Given the description of an element on the screen output the (x, y) to click on. 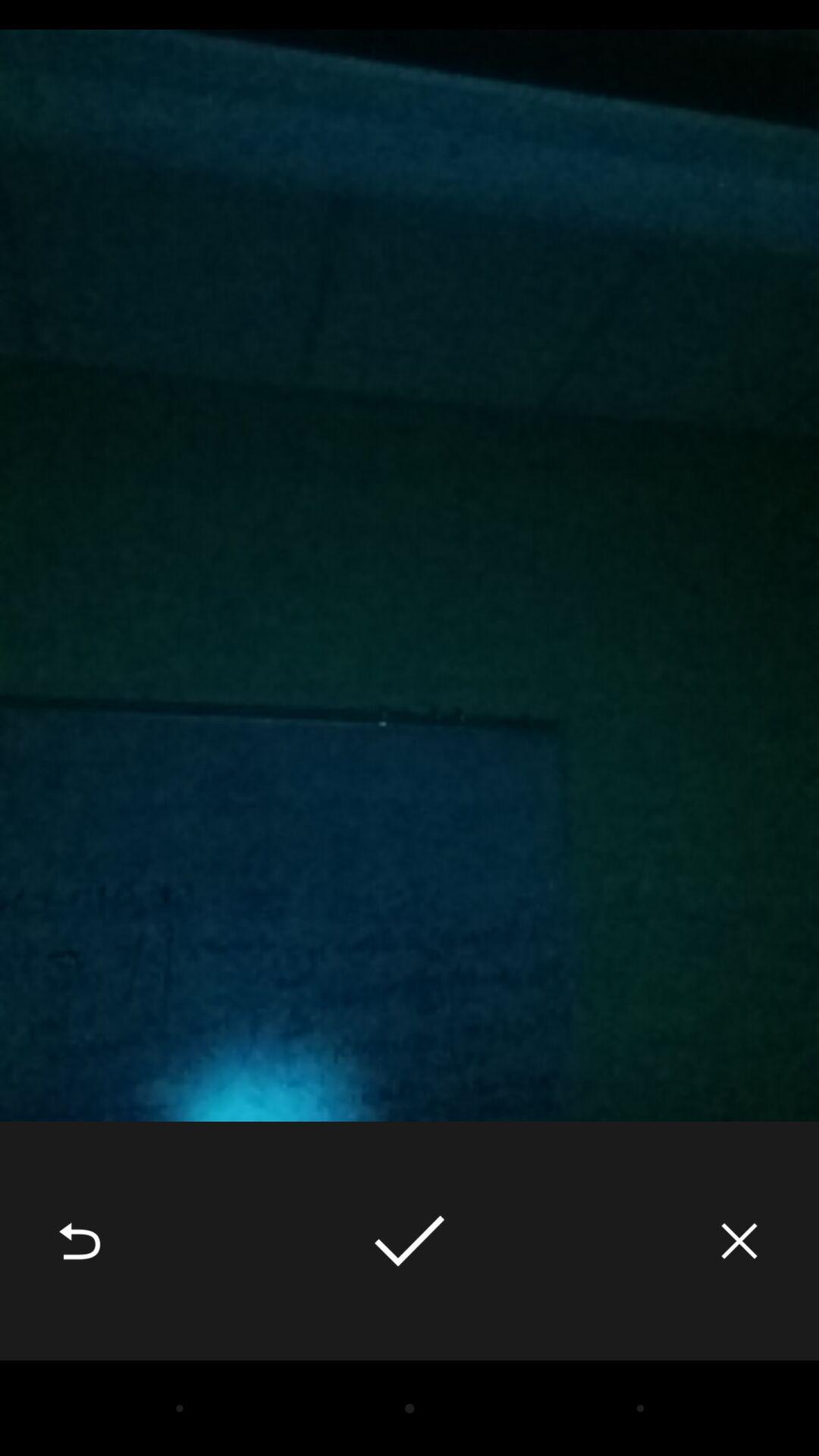
turn on the icon at the bottom right corner (739, 1240)
